Given the description of an element on the screen output the (x, y) to click on. 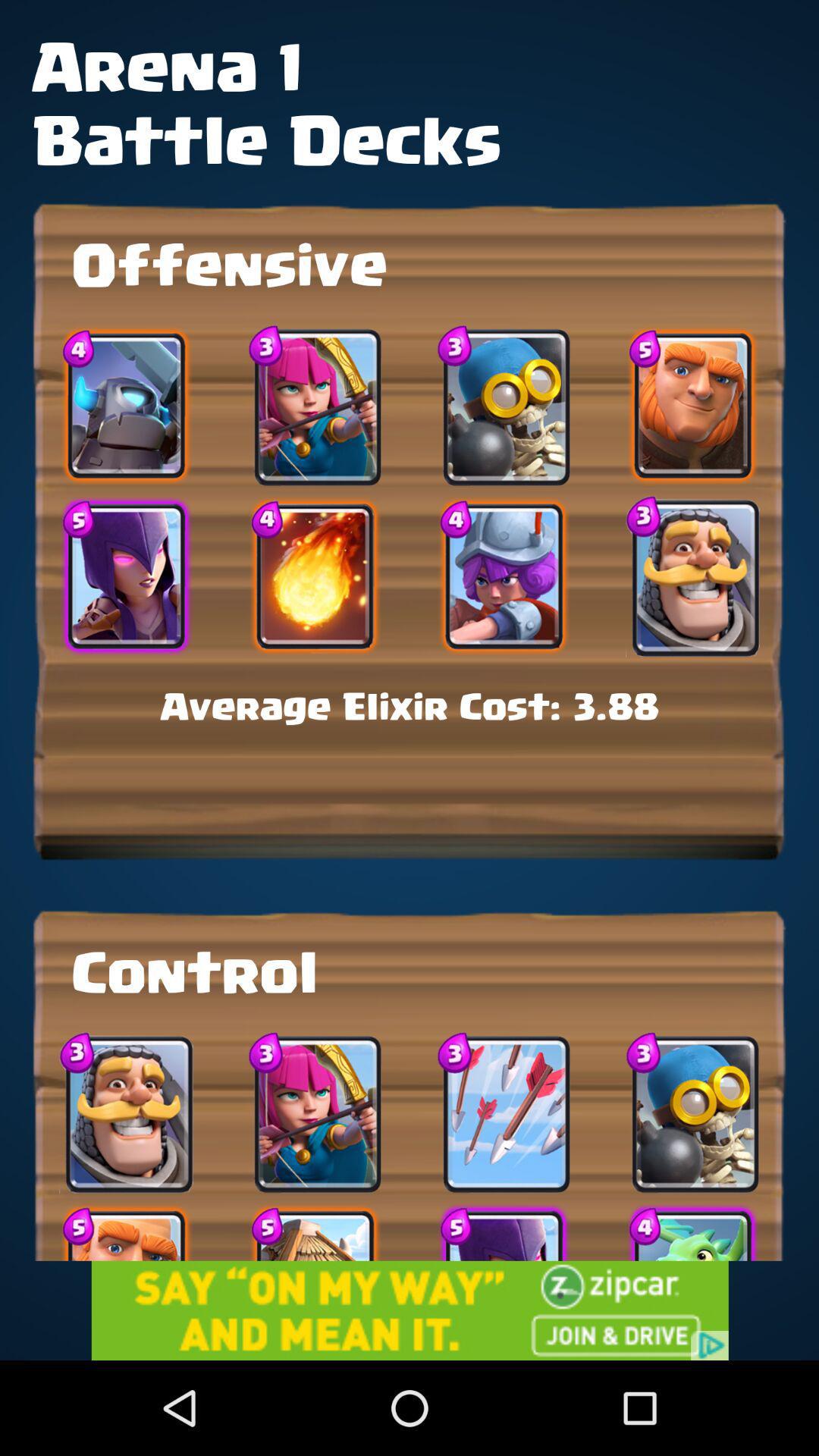
advertisement for zipcar app (409, 1310)
